Given the description of an element on the screen output the (x, y) to click on. 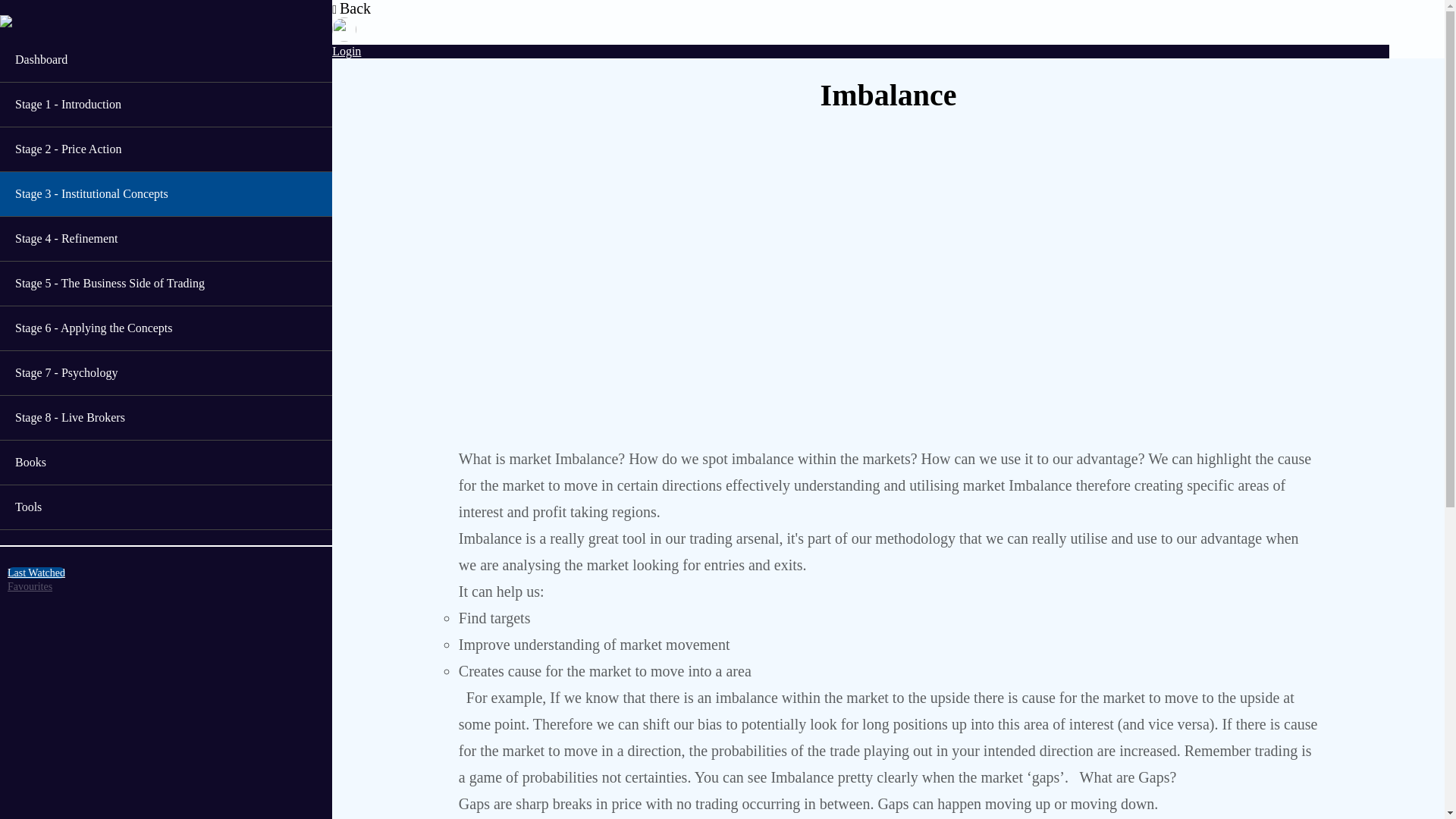
Dashboard (165, 59)
Stage 7 - Psychology (165, 372)
Books (165, 462)
Stage 1 - Introduction (165, 104)
Last Watched (36, 572)
Stage 4 - Refinement (165, 239)
Stage 3 - Institutional Concepts (165, 193)
Login (346, 51)
Stage 6 - Applying the Concepts (165, 328)
Tools (165, 507)
Stage 2 - Price Action (165, 149)
Stage 8 - Live Brokers (165, 417)
Stage 5 - The Business Side of Trading (165, 283)
Favourites (29, 586)
